Given the description of an element on the screen output the (x, y) to click on. 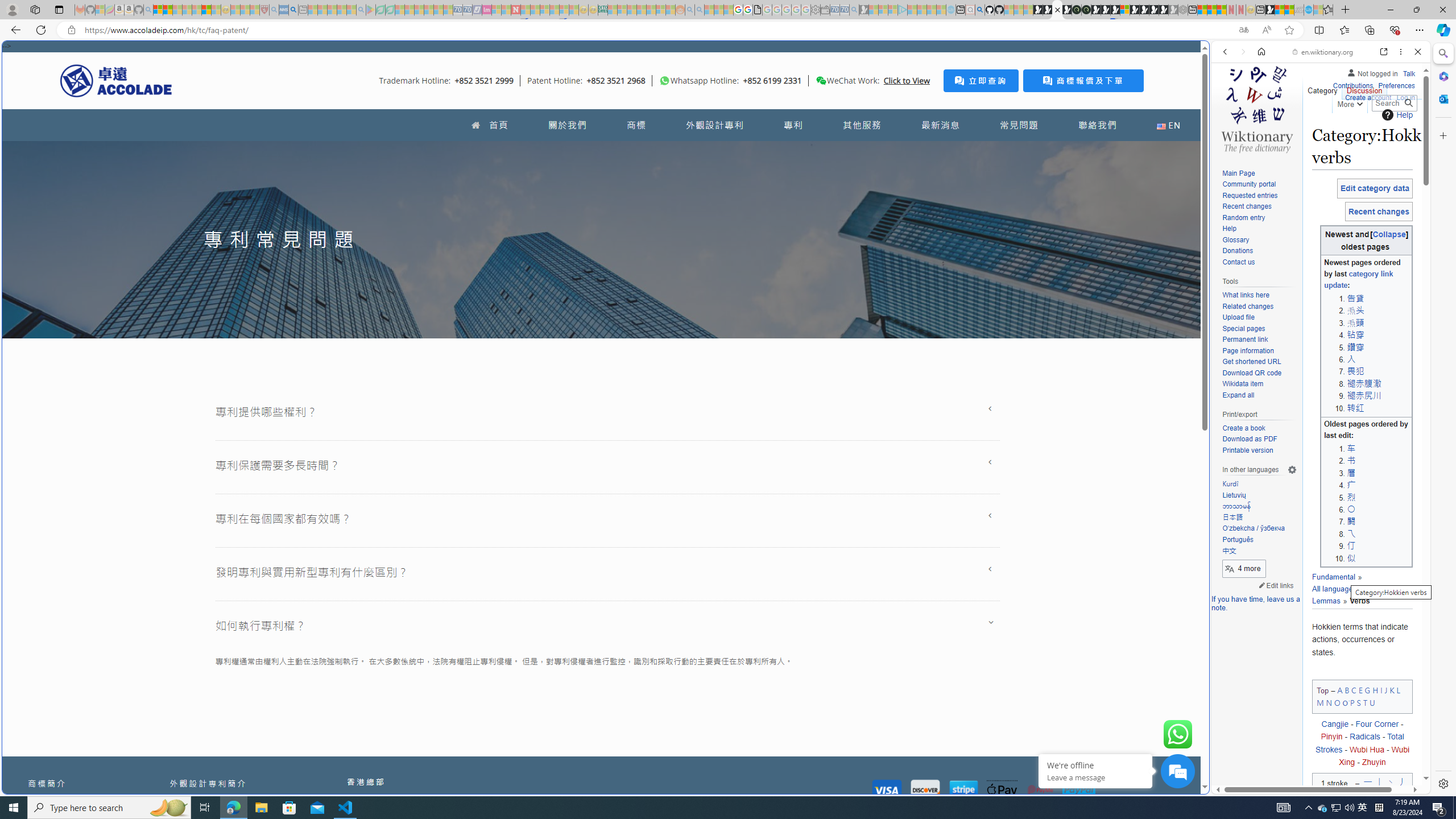
Community portal (1248, 184)
4 more (1243, 568)
B (1346, 689)
Get shortened URL (1259, 361)
Contact us (1238, 261)
Hokkien (1374, 588)
Contact us (1259, 262)
